Given the description of an element on the screen output the (x, y) to click on. 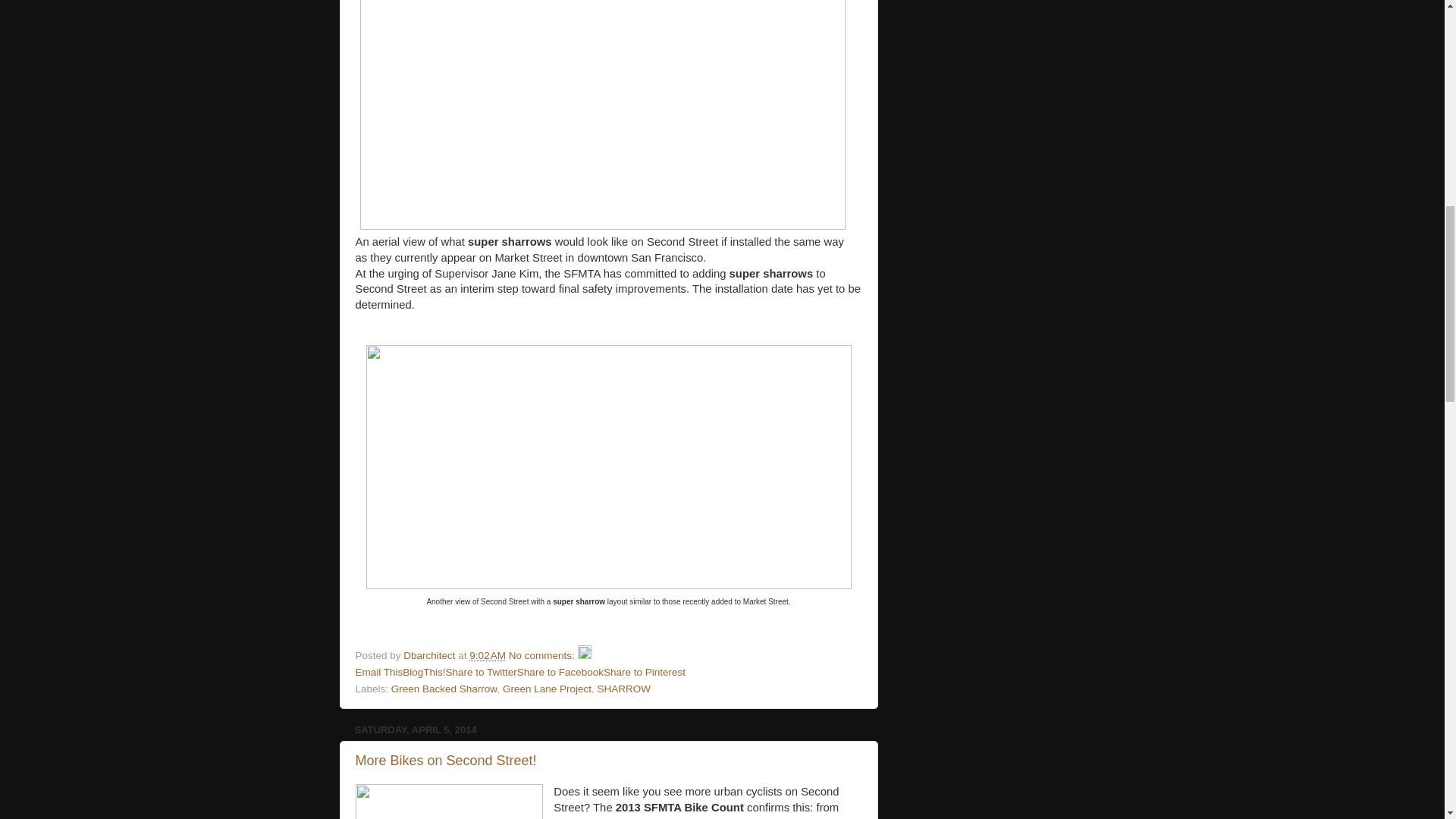
Share to Facebook (560, 672)
Dbarchitect (430, 655)
Green Lane Project (546, 688)
Email This (379, 672)
SHARROW (623, 688)
BlogThis! (424, 672)
More Bikes on Second Street! (445, 760)
Share to Twitter (480, 672)
permanent link (486, 655)
Share to Twitter (480, 672)
Email This (379, 672)
Edit Post (584, 655)
author profile (430, 655)
